Given the description of an element on the screen output the (x, y) to click on. 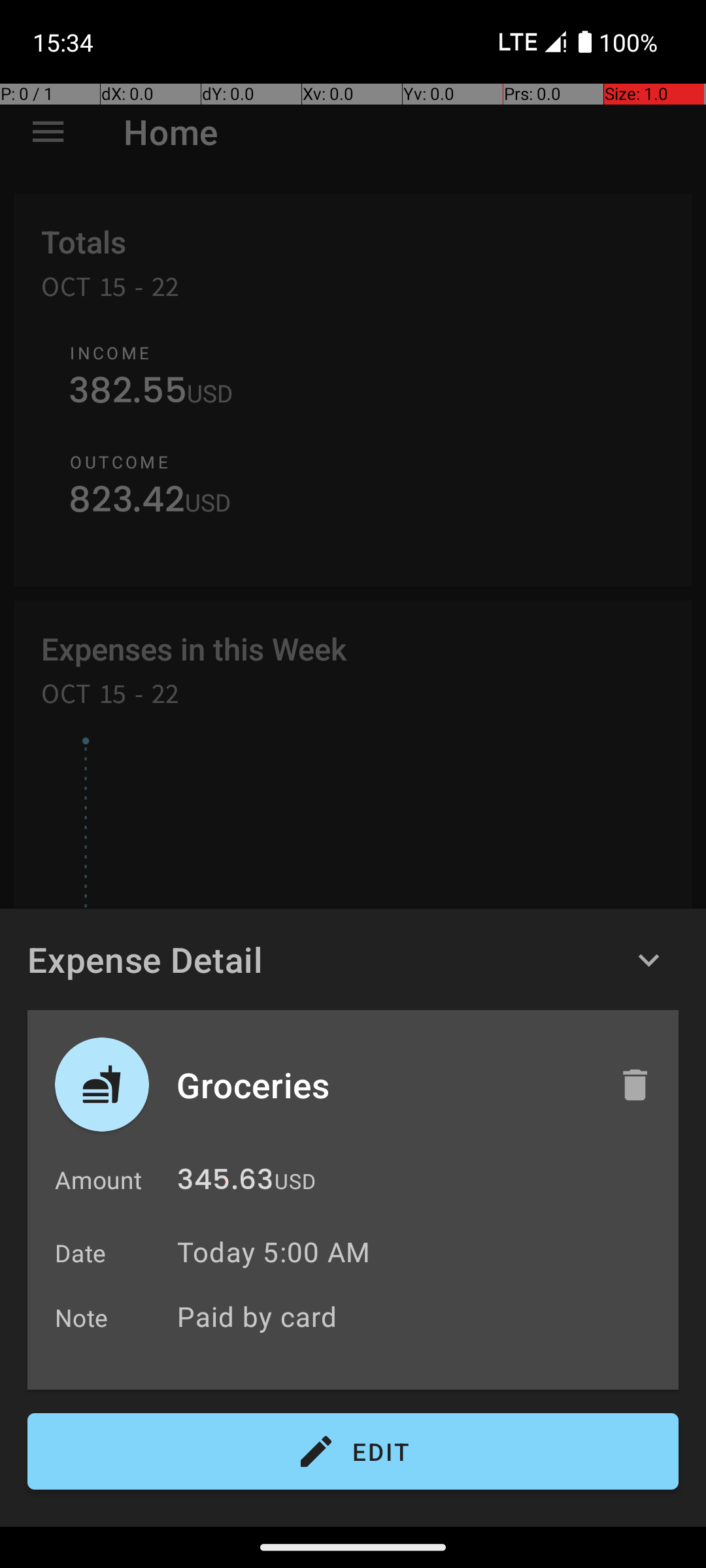
Groceries Element type: android.widget.TextView (383, 1084)
345.63 Element type: android.widget.TextView (224, 1182)
Today 5:00 AM Element type: android.widget.TextView (273, 1251)
Paid by card Element type: android.widget.TextView (420, 1315)
